Given the description of an element on the screen output the (x, y) to click on. 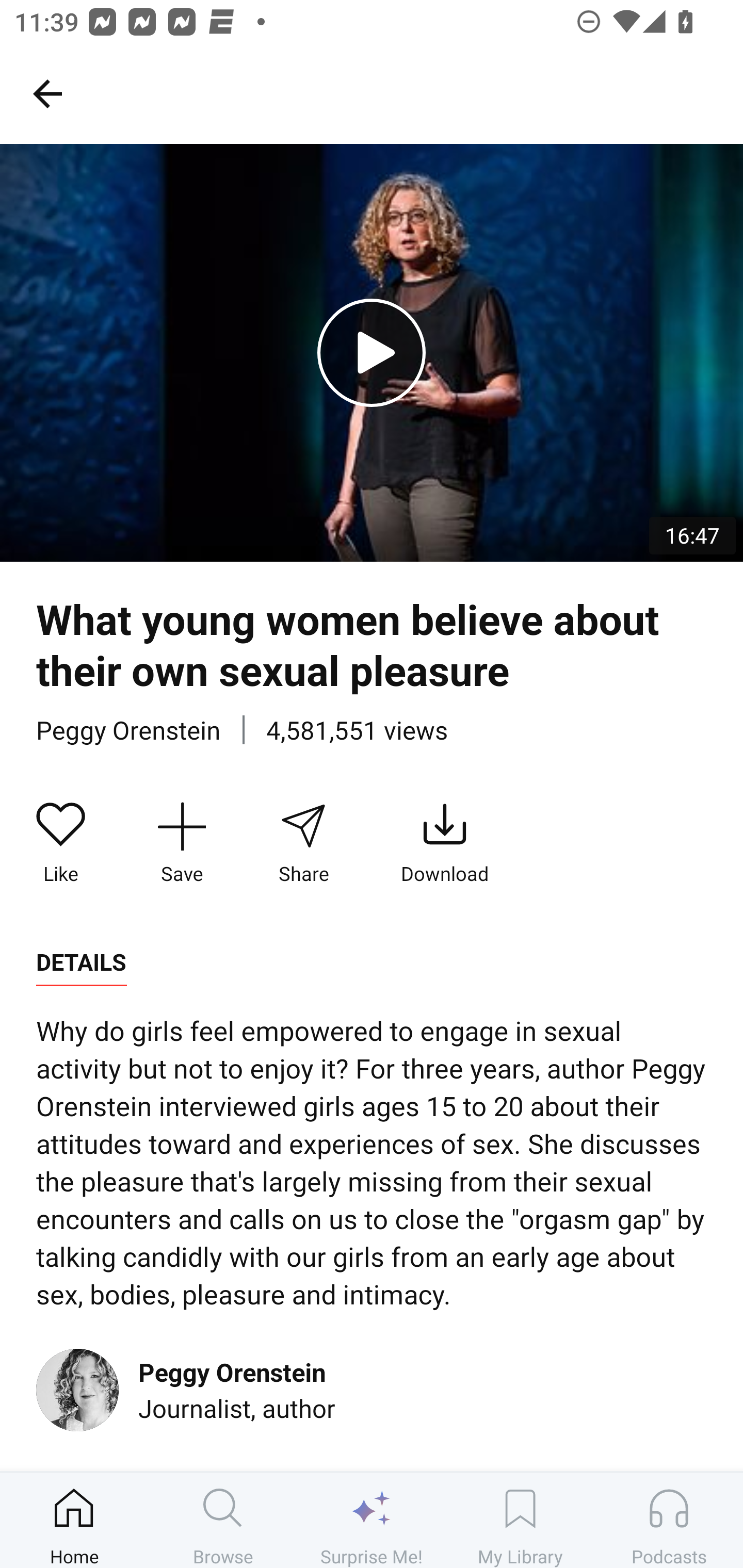
Go back (47, 92)
Like (60, 843)
Save (181, 843)
Share (302, 843)
Download (444, 843)
DETAILS (80, 962)
Home (74, 1520)
Browse (222, 1520)
Surprise Me! (371, 1520)
My Library (519, 1520)
Podcasts (668, 1520)
